Given the description of an element on the screen output the (x, y) to click on. 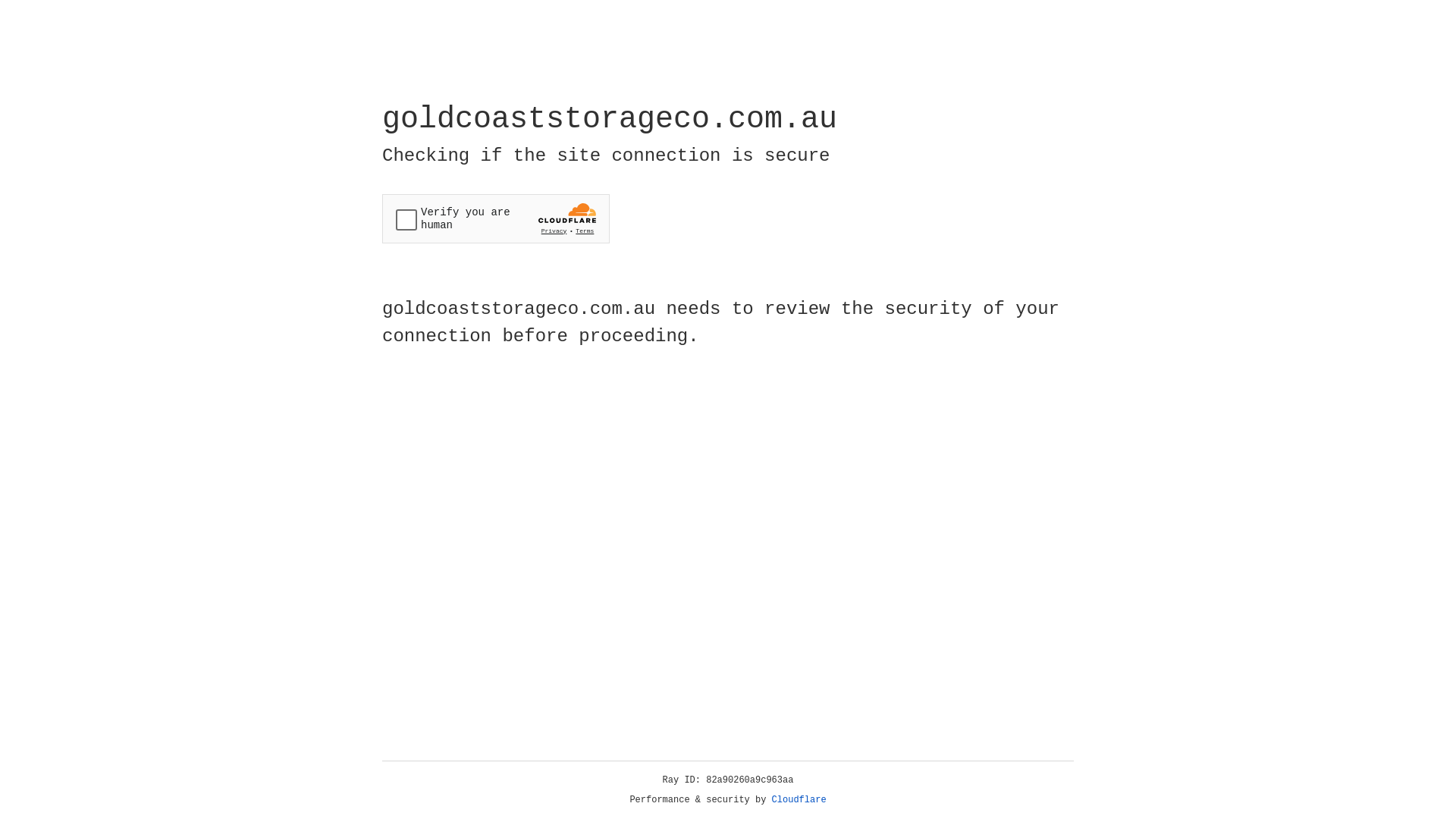
Cloudflare Element type: text (798, 799)
Widget containing a Cloudflare security challenge Element type: hover (495, 218)
